Given the description of an element on the screen output the (x, y) to click on. 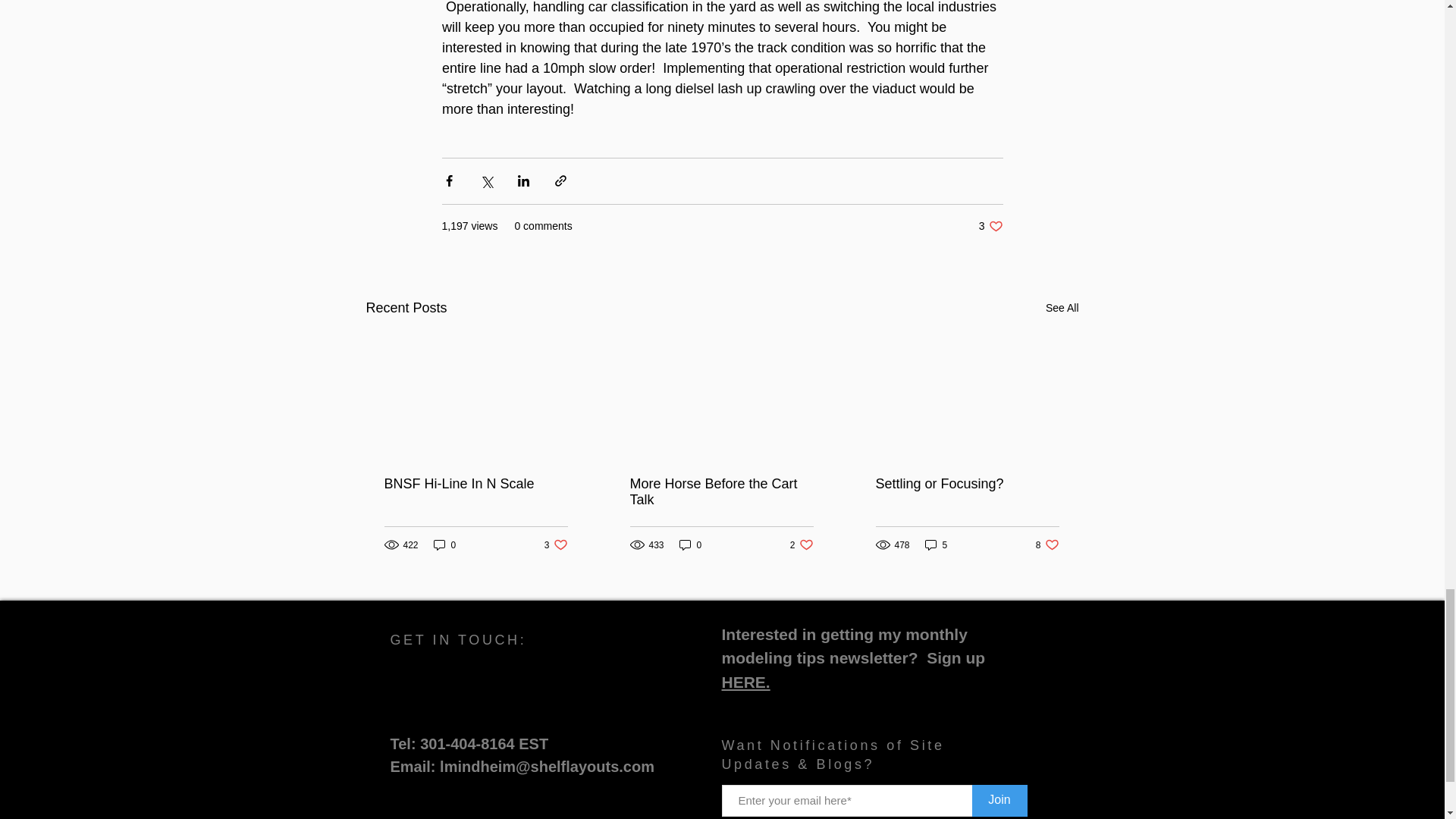
BNSF Hi-Line In N Scale (555, 544)
HERE. (475, 483)
Join (746, 682)
0 (999, 799)
See All (690, 544)
0 (801, 544)
5 (1061, 308)
Settling or Focusing? (445, 544)
More Horse Before the Cart Talk (936, 544)
